Given the description of an element on the screen output the (x, y) to click on. 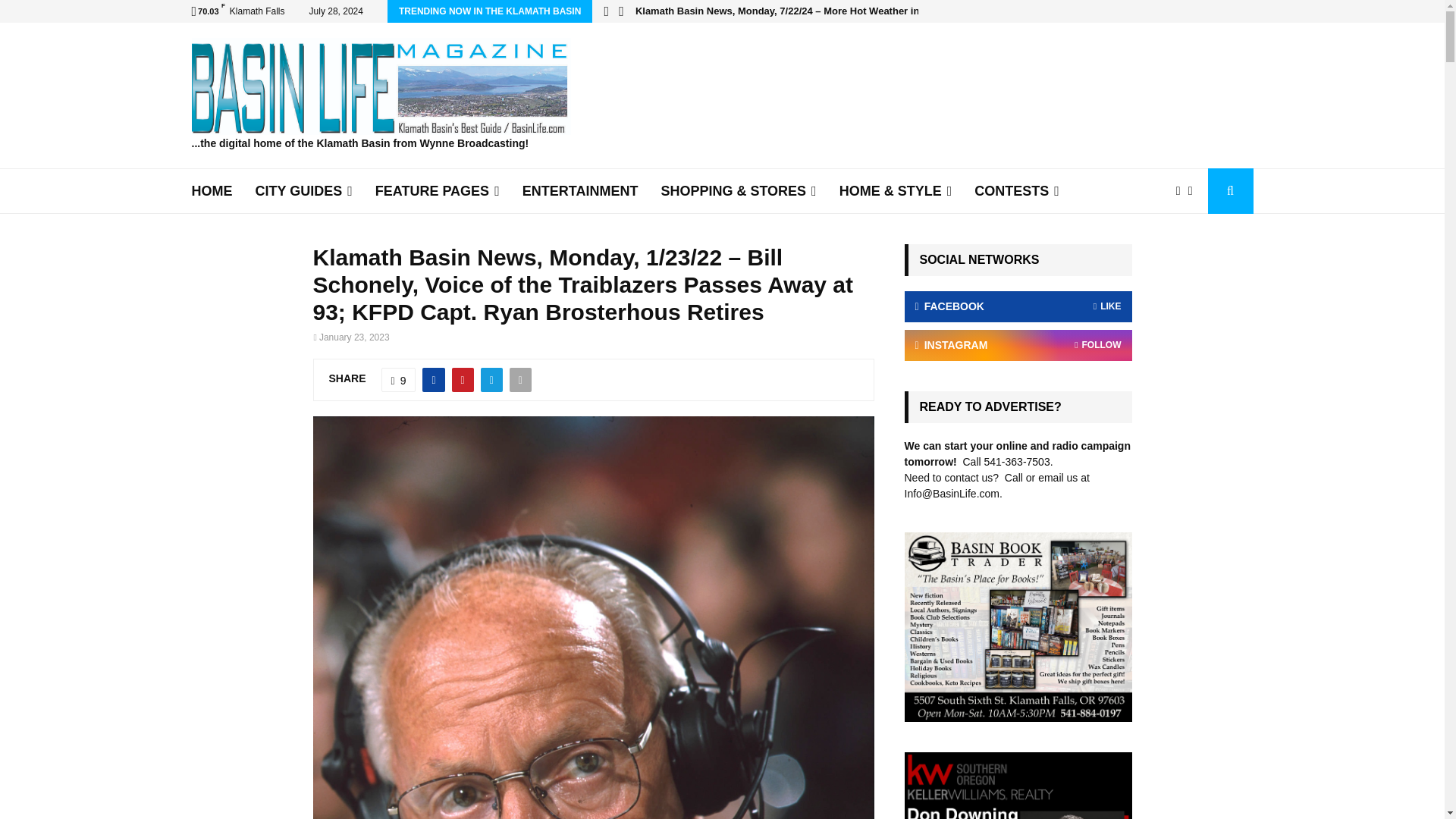
Facebook (1182, 190)
Like (398, 379)
Instagram (1193, 190)
